Given the description of an element on the screen output the (x, y) to click on. 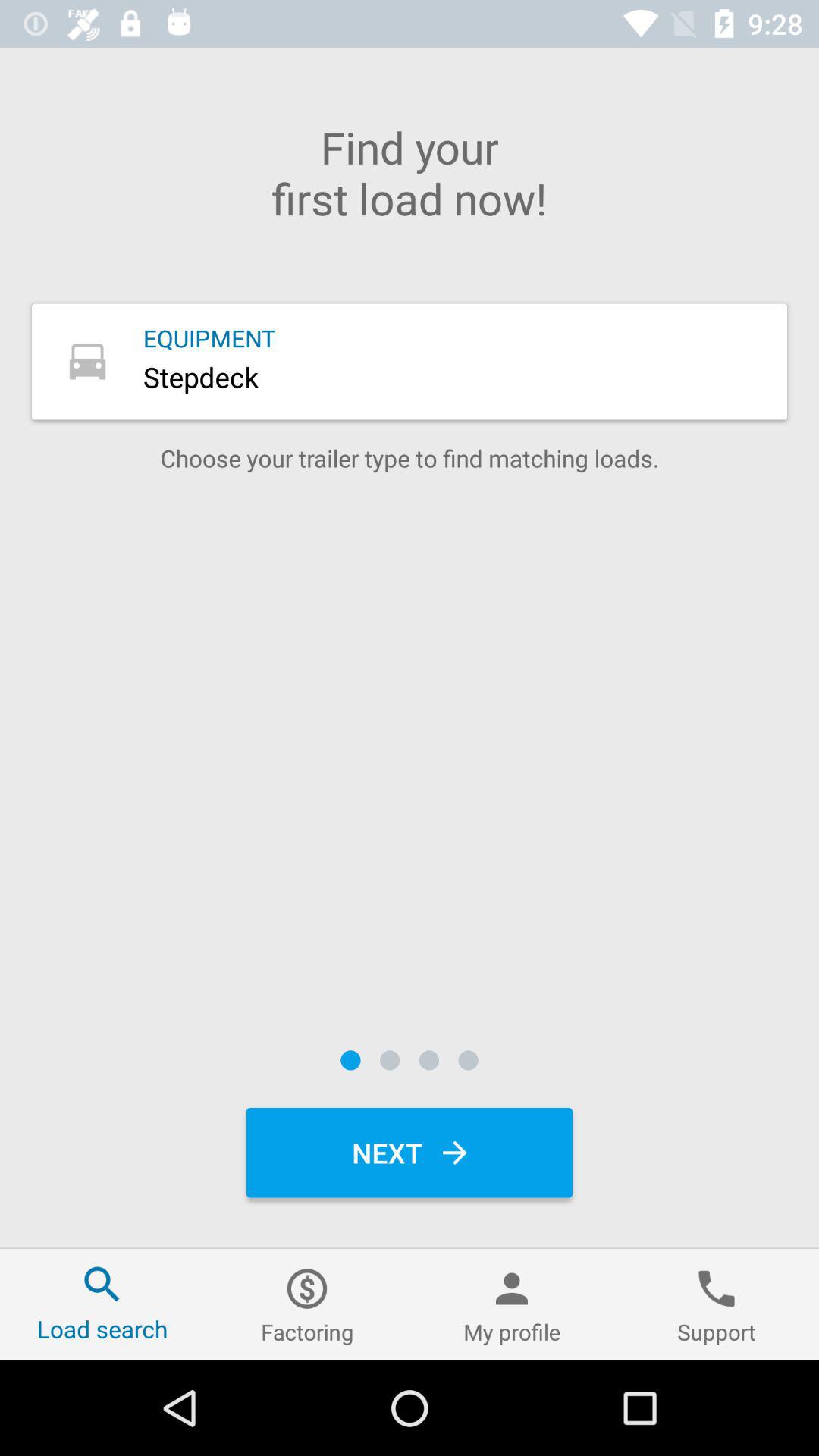
jump until support icon (716, 1304)
